Given the description of an element on the screen output the (x, y) to click on. 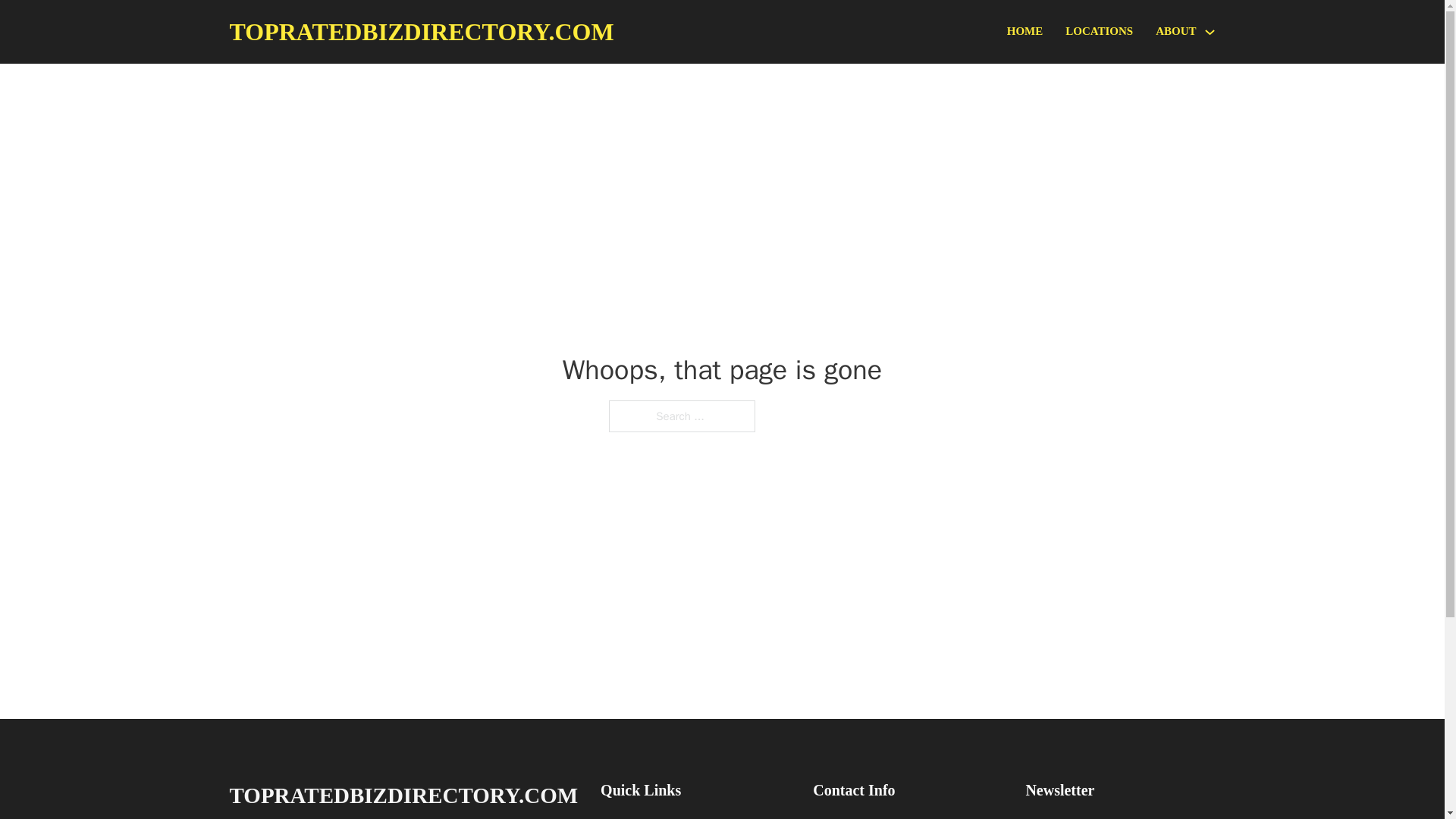
HOME (1025, 31)
TOPRATEDBIZDIRECTORY.COM (420, 31)
LOCATIONS (1098, 31)
TOPRATEDBIZDIRECTORY.COM (403, 795)
